Given the description of an element on the screen output the (x, y) to click on. 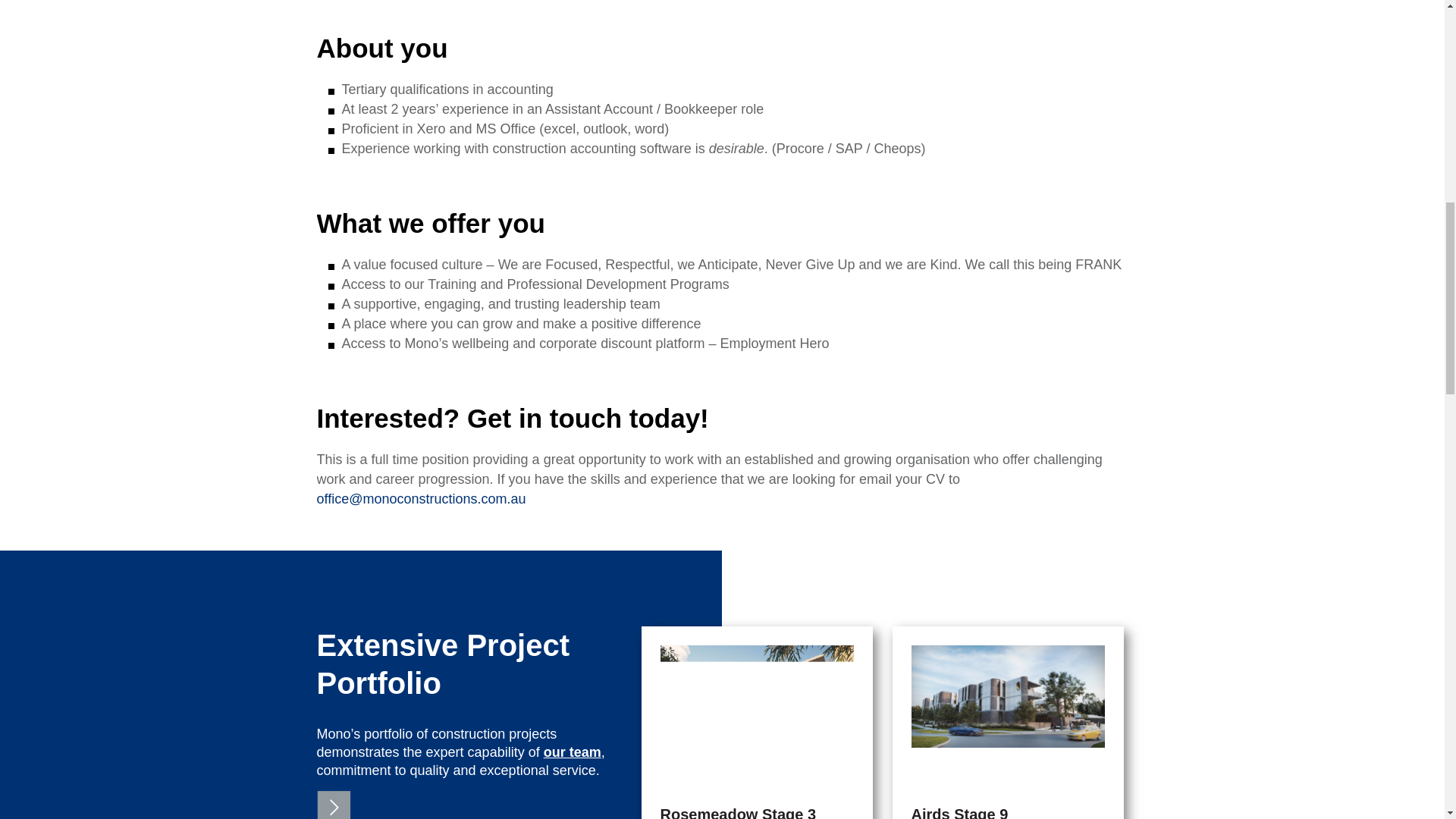
our team (572, 752)
Rosemeadow Stage 3 (737, 812)
Airds Stage 9 (960, 812)
